Given the description of an element on the screen output the (x, y) to click on. 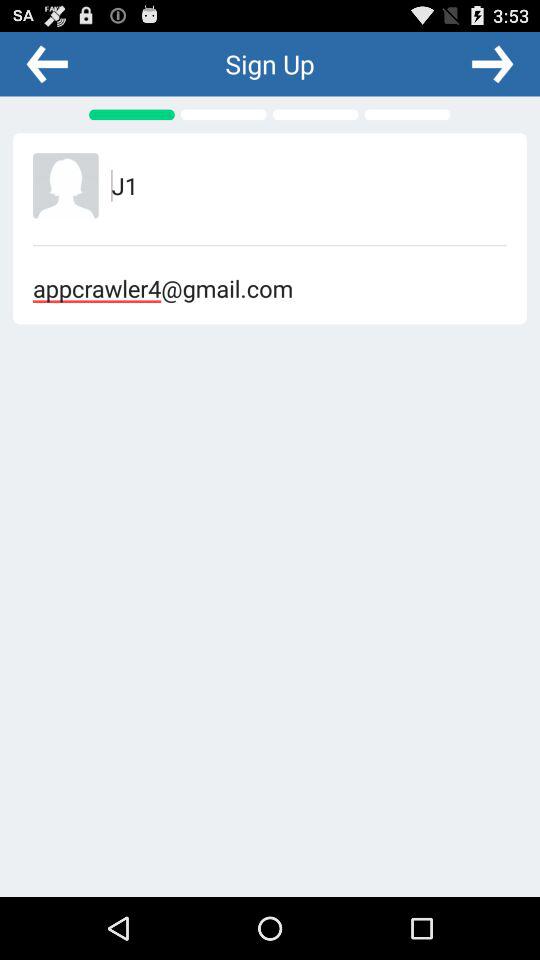
go to back (47, 63)
